Given the description of an element on the screen output the (x, y) to click on. 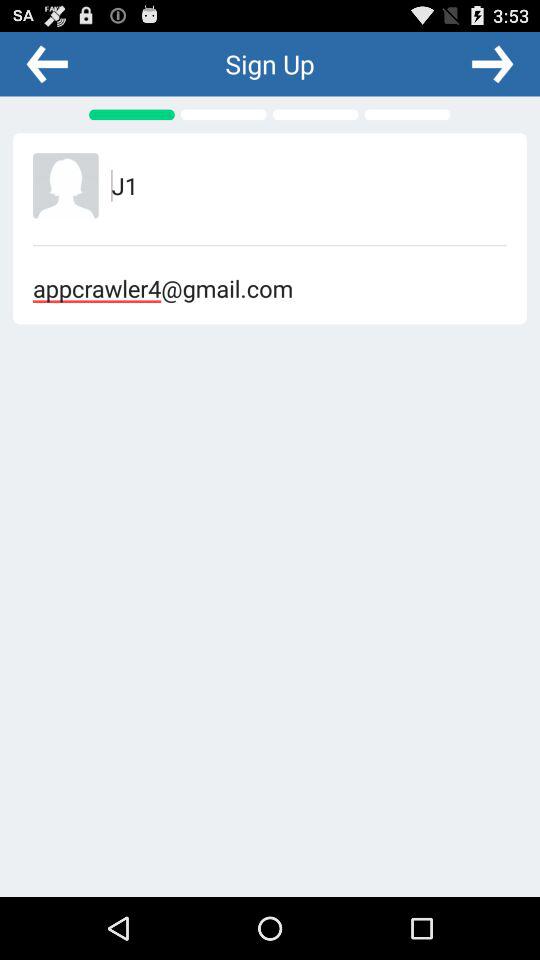
go to back (47, 63)
